Given the description of an element on the screen output the (x, y) to click on. 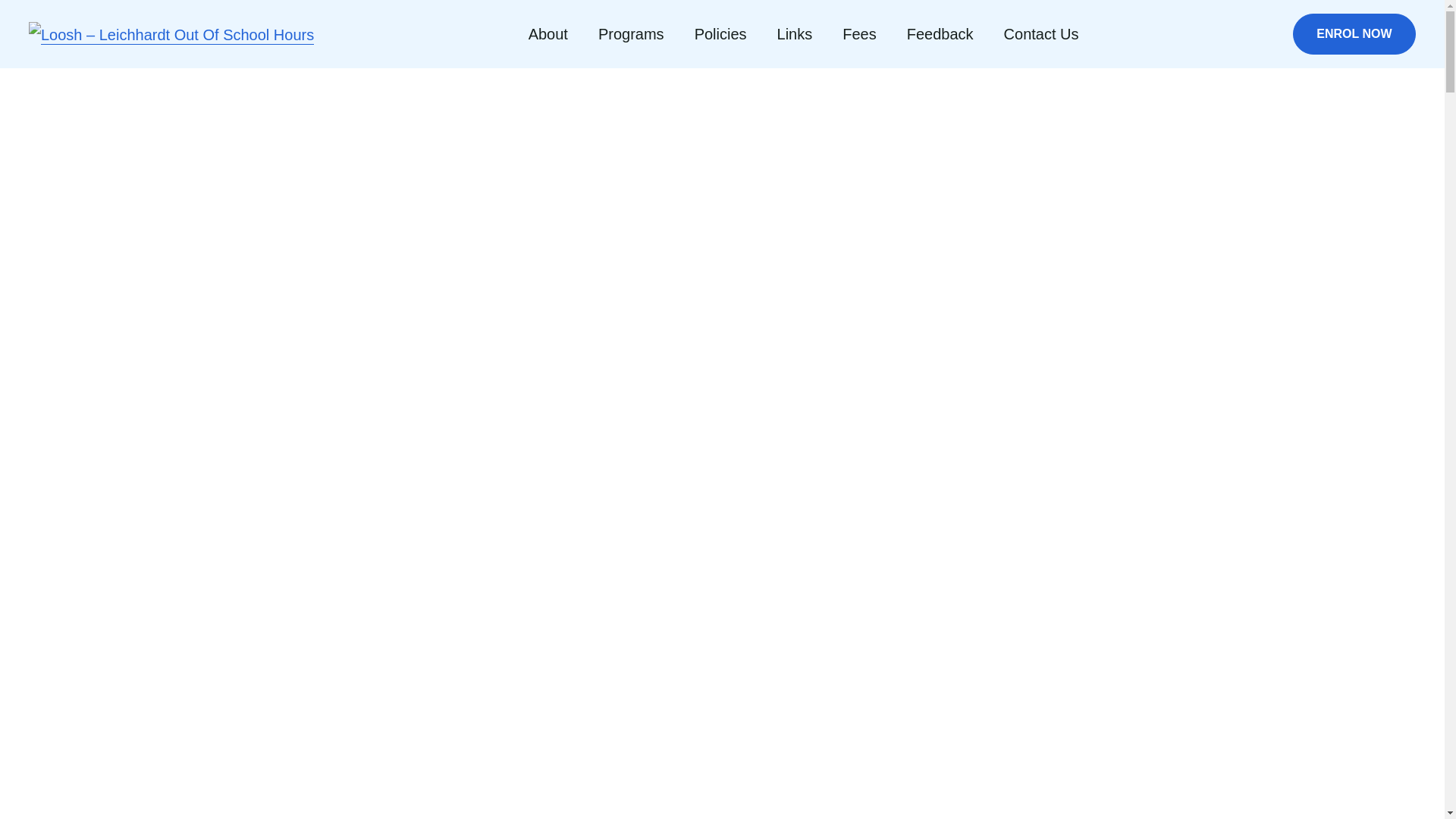
Contact Us Element type: text (1041, 34)
Policies Element type: text (720, 34)
About Element type: text (547, 34)
Programs Element type: text (631, 34)
Feedback Element type: text (939, 34)
Links Element type: text (794, 34)
Fees Element type: text (858, 34)
ENROL NOW Element type: text (1353, 33)
Skip to main content Element type: text (28, 96)
